Given the description of an element on the screen output the (x, y) to click on. 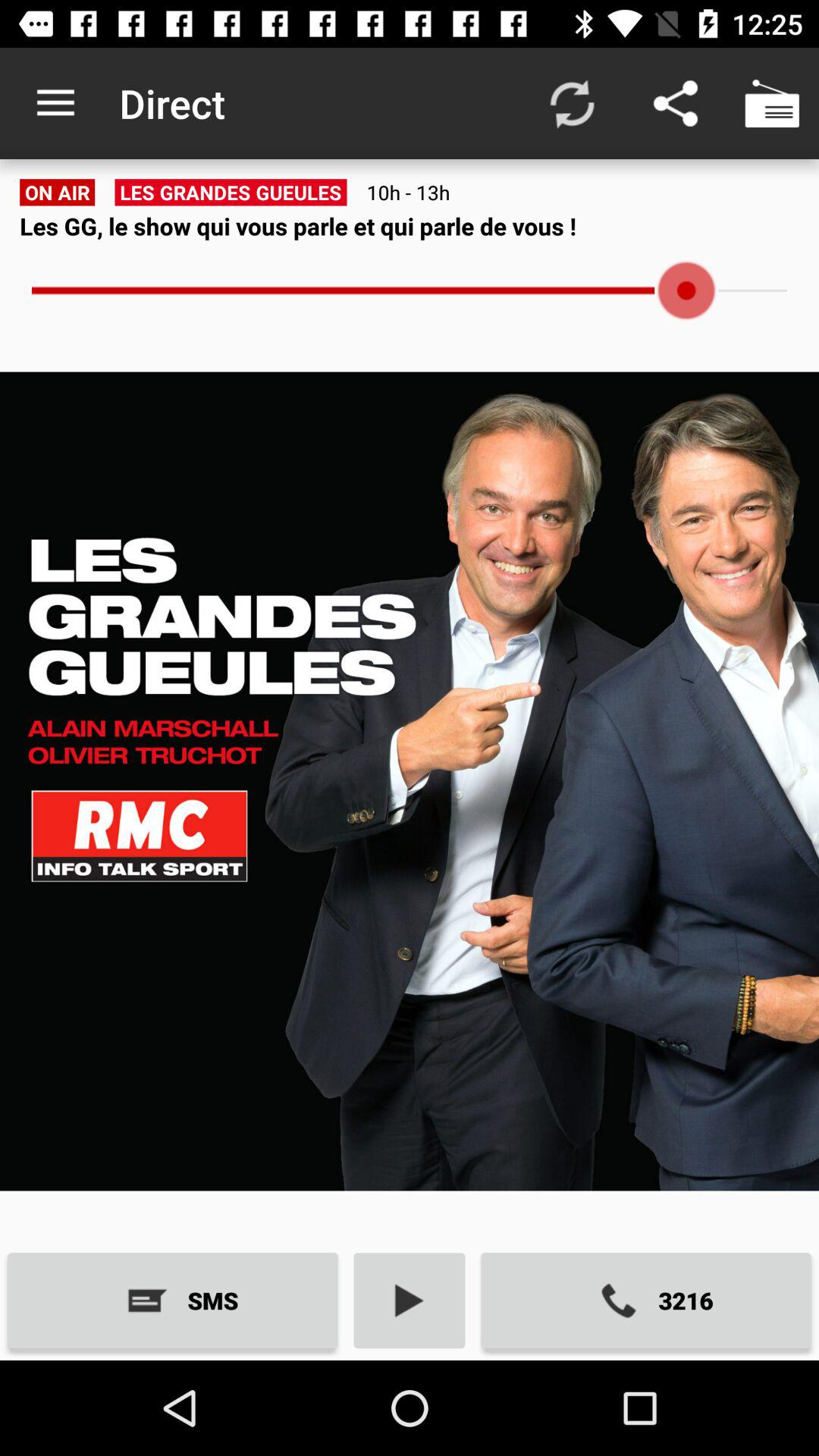
open the sms icon (172, 1300)
